Given the description of an element on the screen output the (x, y) to click on. 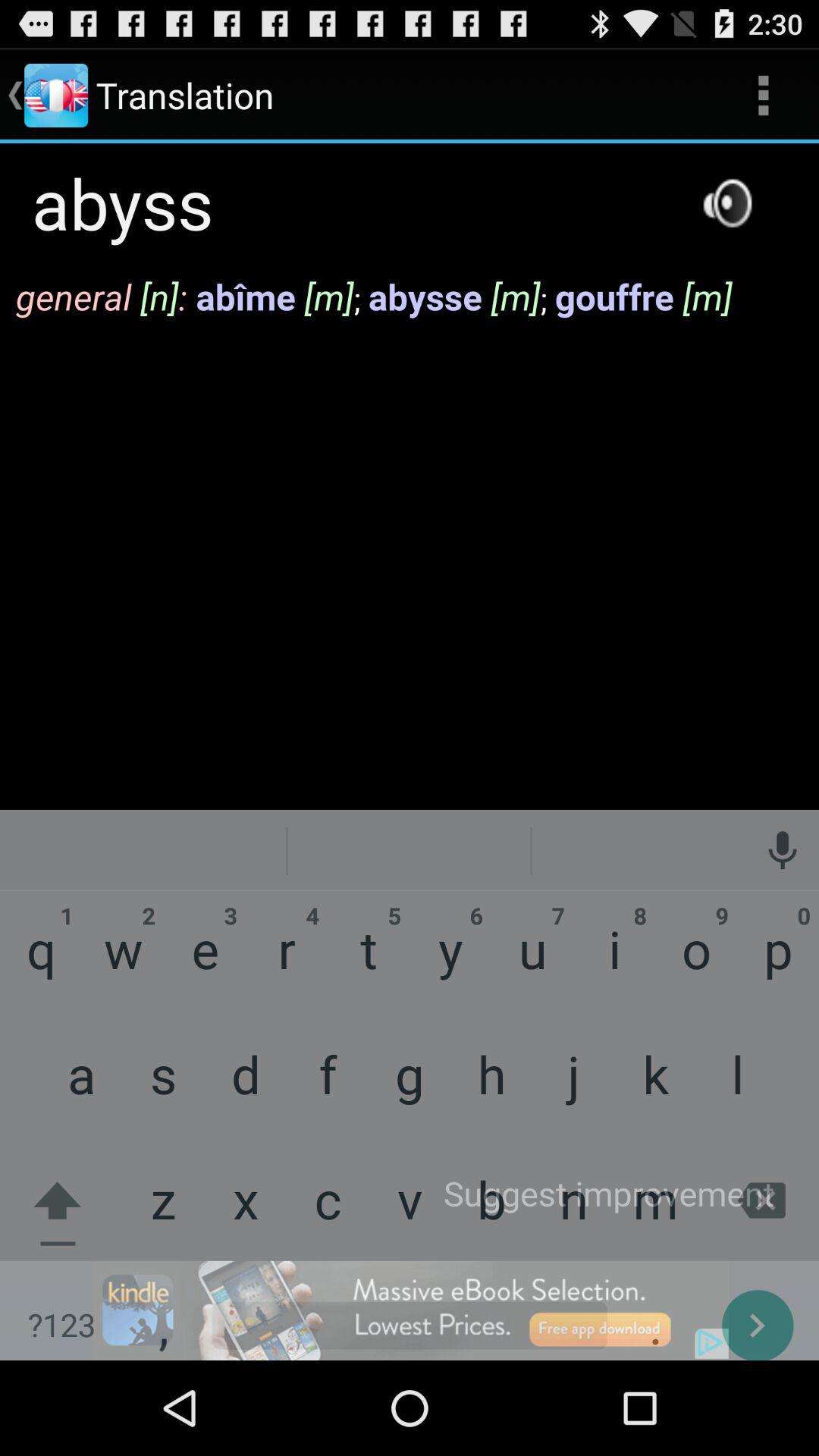
advertisement (409, 1310)
